Given the description of an element on the screen output the (x, y) to click on. 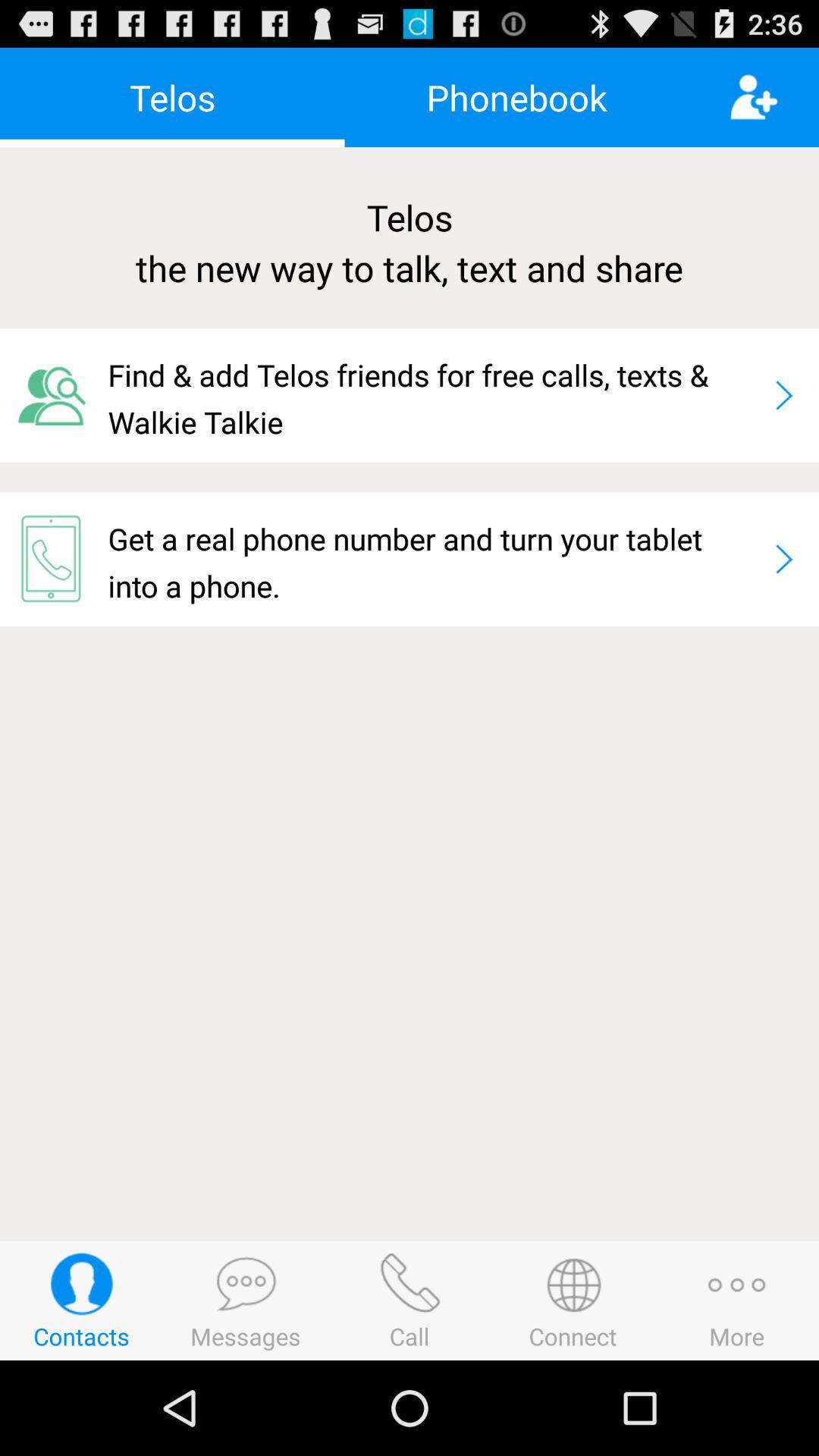
turn on app to the left of the find add telos icon (54, 395)
